Given the description of an element on the screen output the (x, y) to click on. 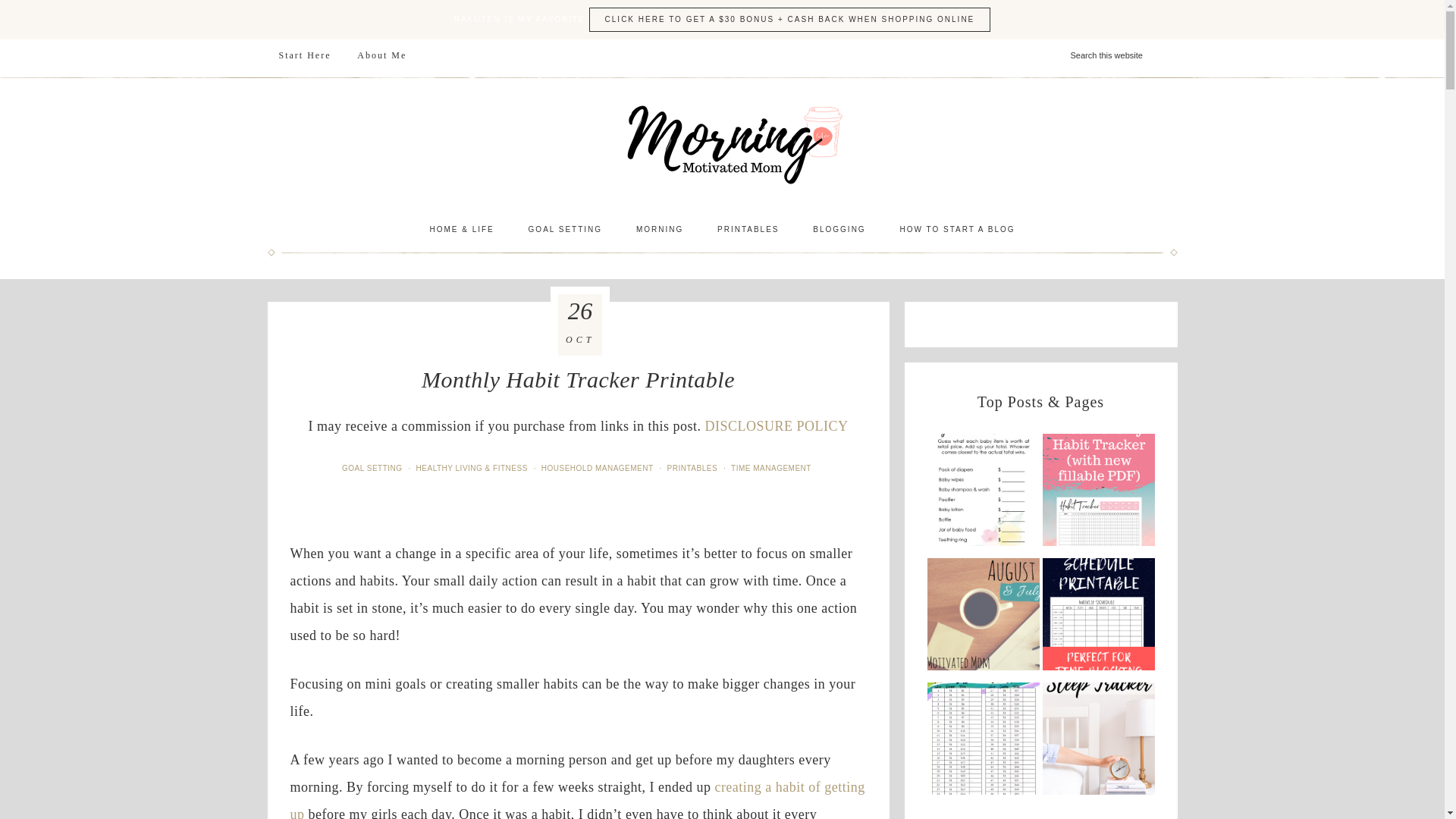
HOW TO START A BLOG (956, 229)
MORNING (659, 229)
Weekly Schedule Printable (1098, 618)
About Me (381, 55)
Start Here (304, 55)
GOAL SETTING (565, 229)
Sleep Tracker Printable (1098, 742)
DISCLOSURE POLICY (775, 426)
BLOGGING (838, 229)
creating a habit of getting up (576, 799)
TIME MANAGEMENT (772, 468)
Monthly Habit Tracker Printable (1098, 494)
HOUSEHOLD MANAGEMENT (598, 468)
